Given the description of an element on the screen output the (x, y) to click on. 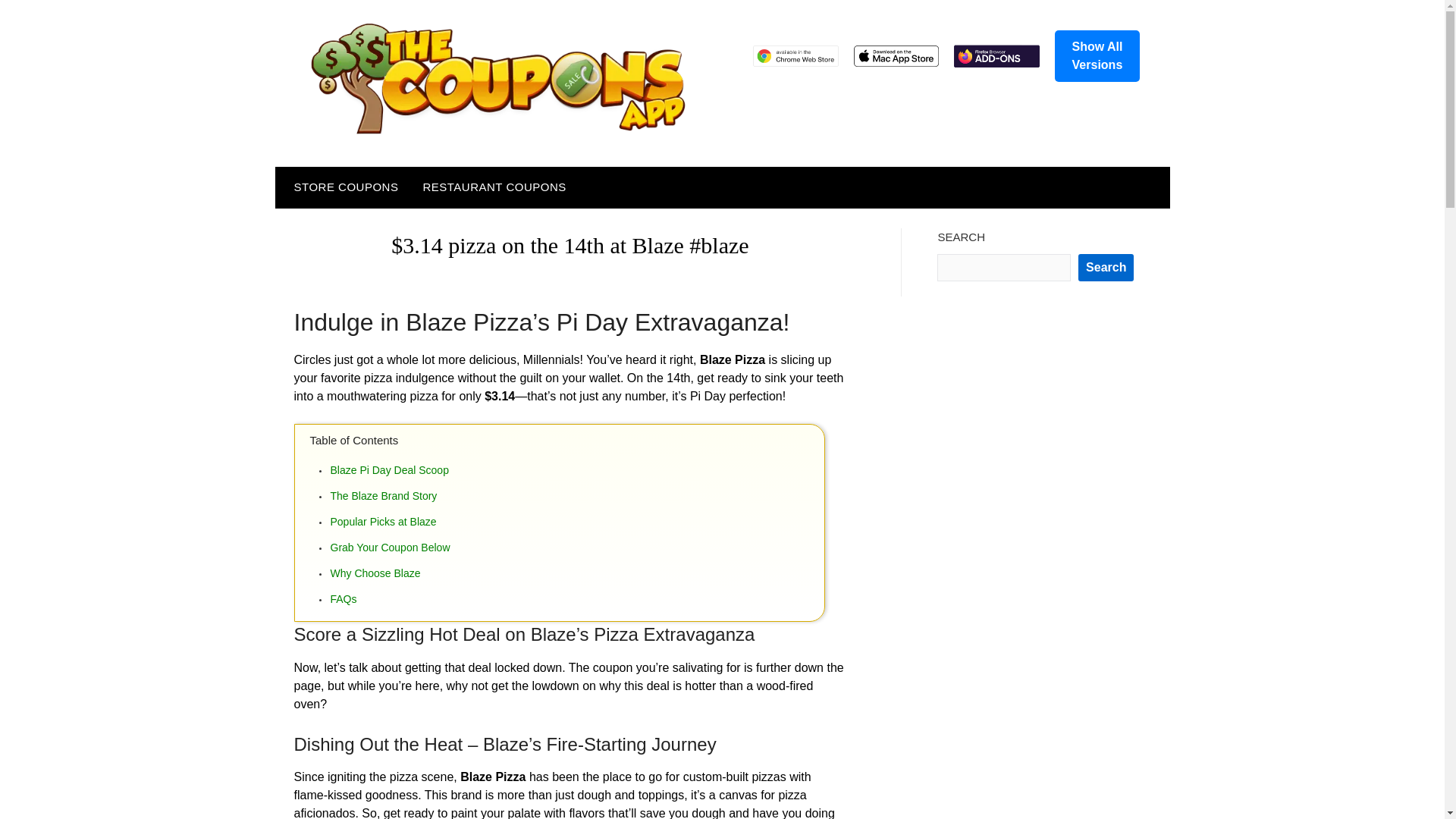
Popular Picks at Blaze (576, 521)
Show All Versions (1096, 55)
Blaze Pi Day Deal Scoop (576, 469)
STORE COUPONS (342, 187)
RESTAURANT COUPONS (494, 187)
Why Choose Blaze (576, 572)
The Blaze Brand Story (576, 495)
FAQs (576, 598)
Grab Your Coupon Below (576, 547)
